Given the description of an element on the screen output the (x, y) to click on. 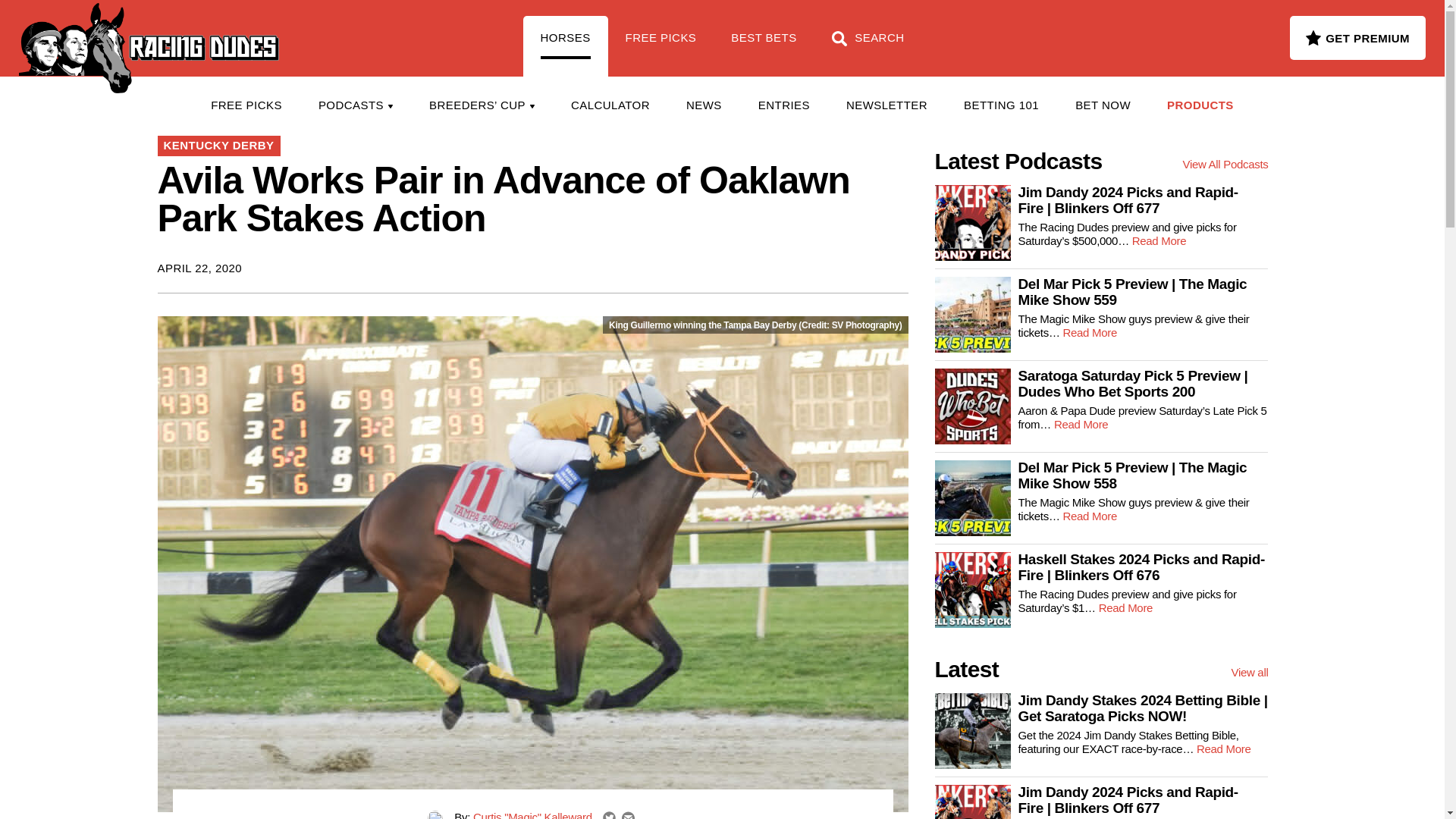
HORSES (565, 45)
FREE PICKS (661, 45)
Posts by Curtis "Magic" Kalleward (532, 814)
 SEARCH (867, 45)
PODCASTS (354, 105)
GET PREMIUM (1357, 37)
BEST BETS (763, 45)
FREE PICKS (245, 105)
